Given the description of an element on the screen output the (x, y) to click on. 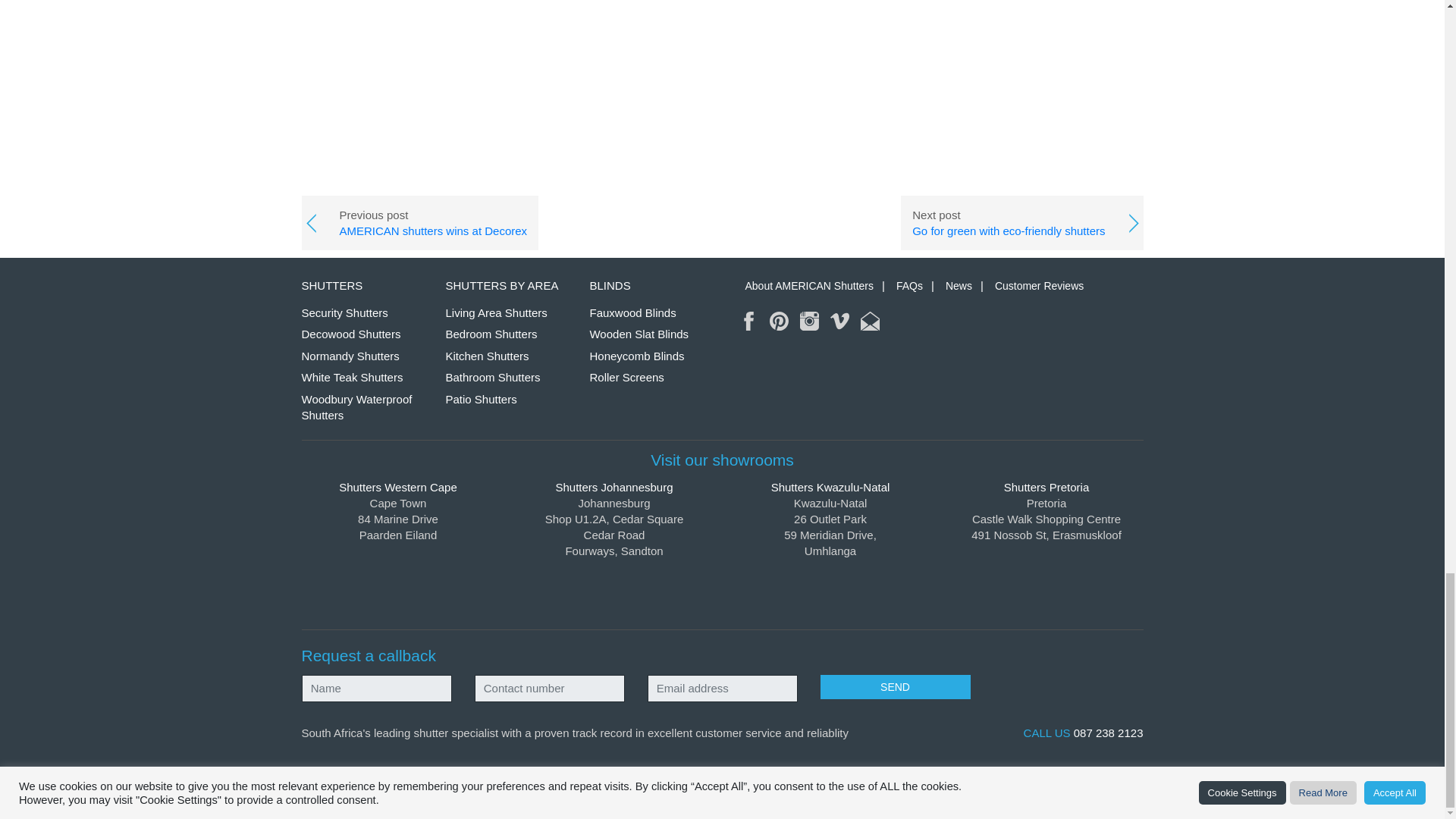
Terms of use (566, 788)
American Shutters on Facebook (748, 321)
American Shutters on Instagram (808, 321)
Contact American Shutters (869, 321)
American Shutters on Vimeo (838, 321)
American Shutters on Pinterest (779, 321)
